Given the description of an element on the screen output the (x, y) to click on. 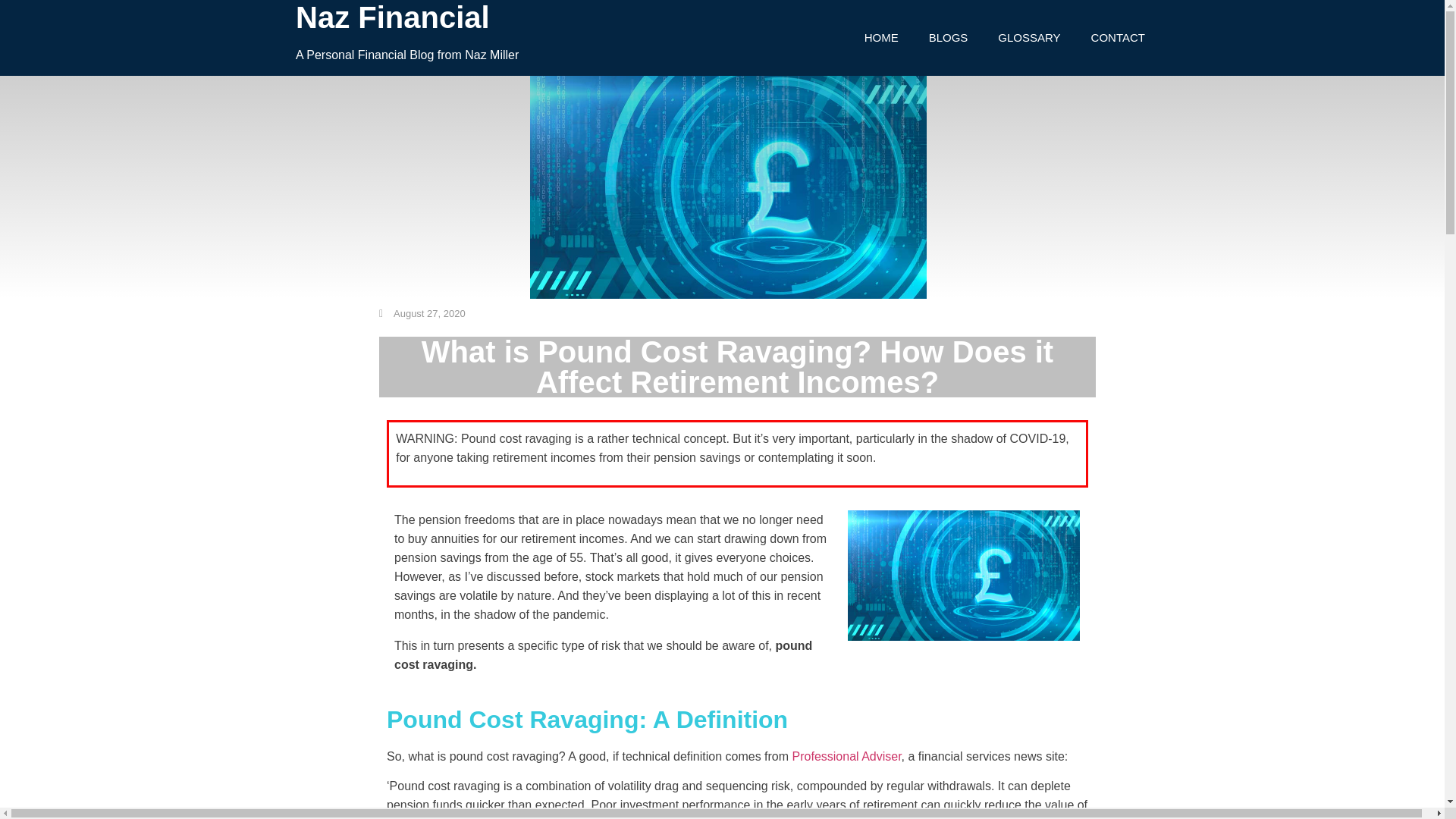
HOME (881, 0)
Professional Adviser (846, 756)
GLOSSARY (1028, 2)
BLOGS (949, 1)
August 27, 2020 (421, 313)
CONTACT (1117, 2)
